Given the description of an element on the screen output the (x, y) to click on. 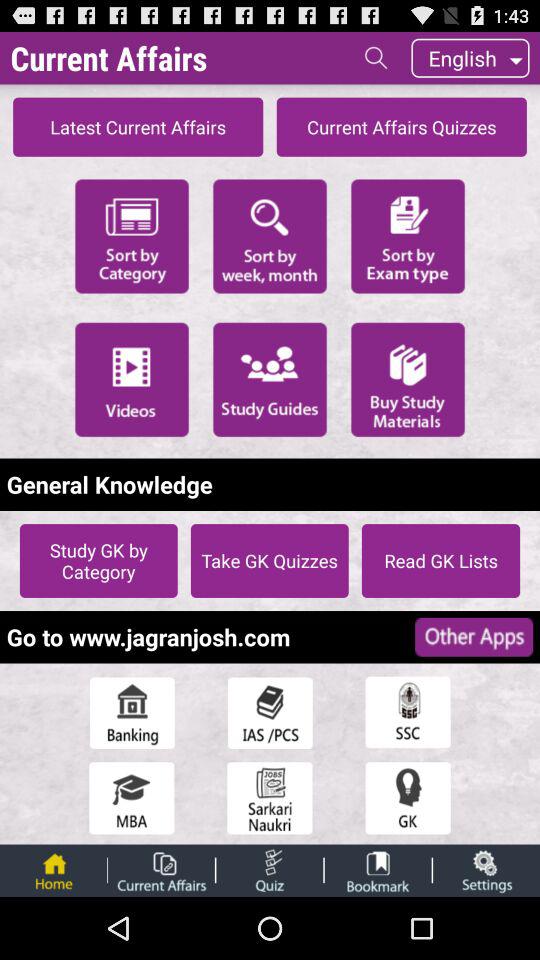
select icon above the current affairs quizzes button (375, 57)
